Given the description of an element on the screen output the (x, y) to click on. 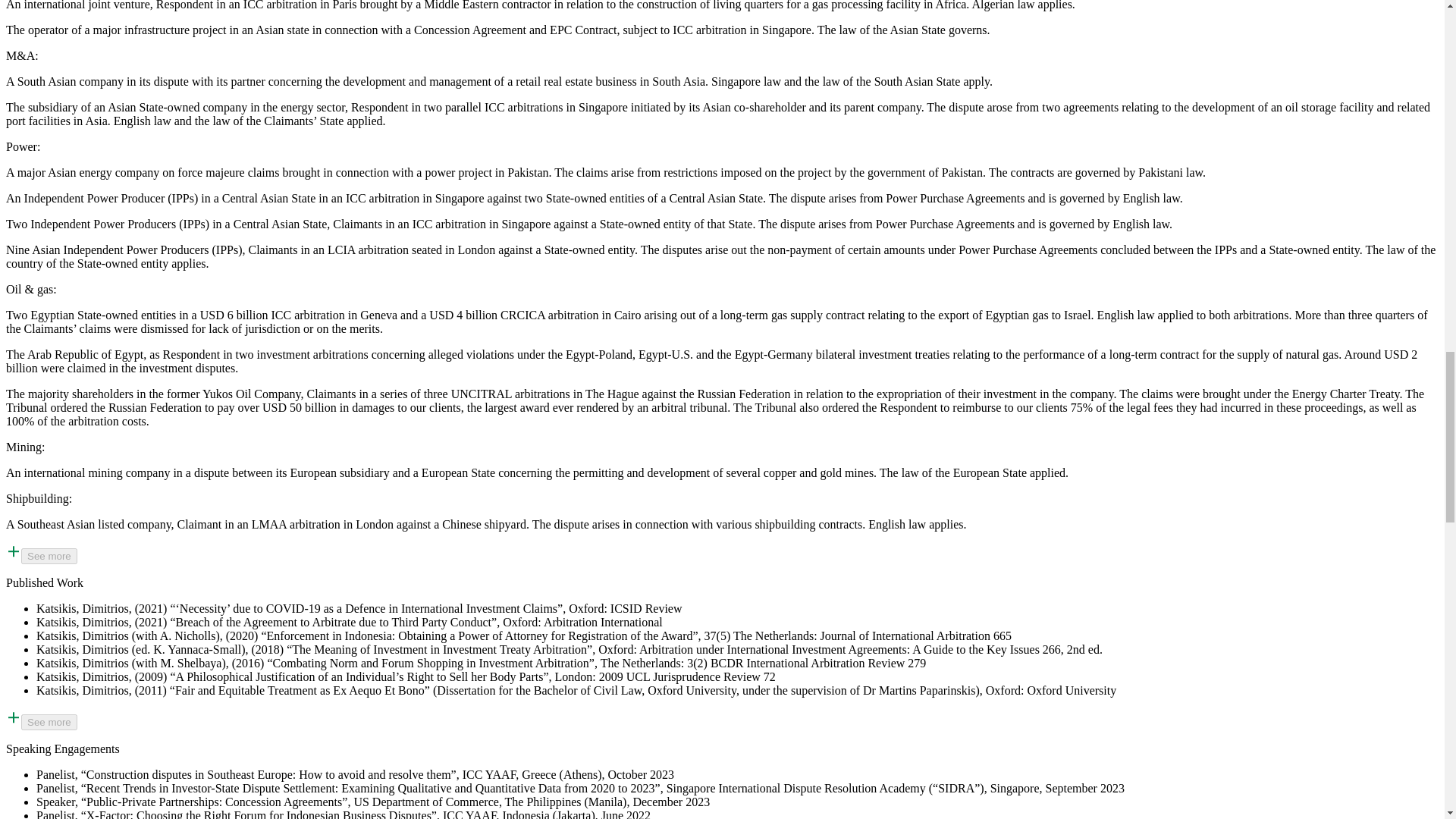
See more (49, 555)
See more (49, 722)
